Given the description of an element on the screen output the (x, y) to click on. 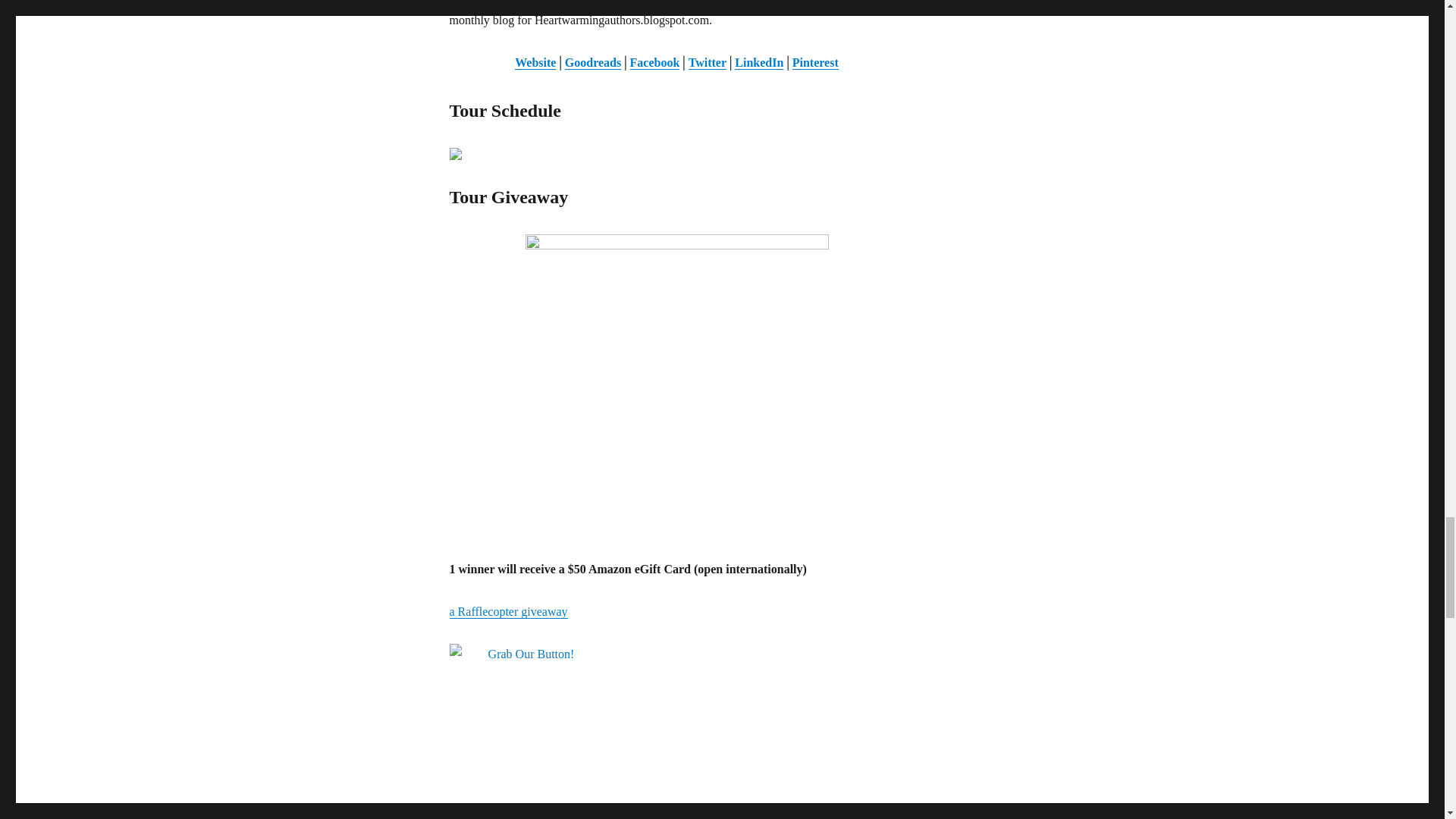
Website (535, 62)
Twitter (707, 62)
Goodreads (592, 62)
Pinterest (815, 62)
a Rafflecopter giveaway (507, 611)
Facebook (654, 62)
LinkedIn (759, 62)
